Given the description of an element on the screen output the (x, y) to click on. 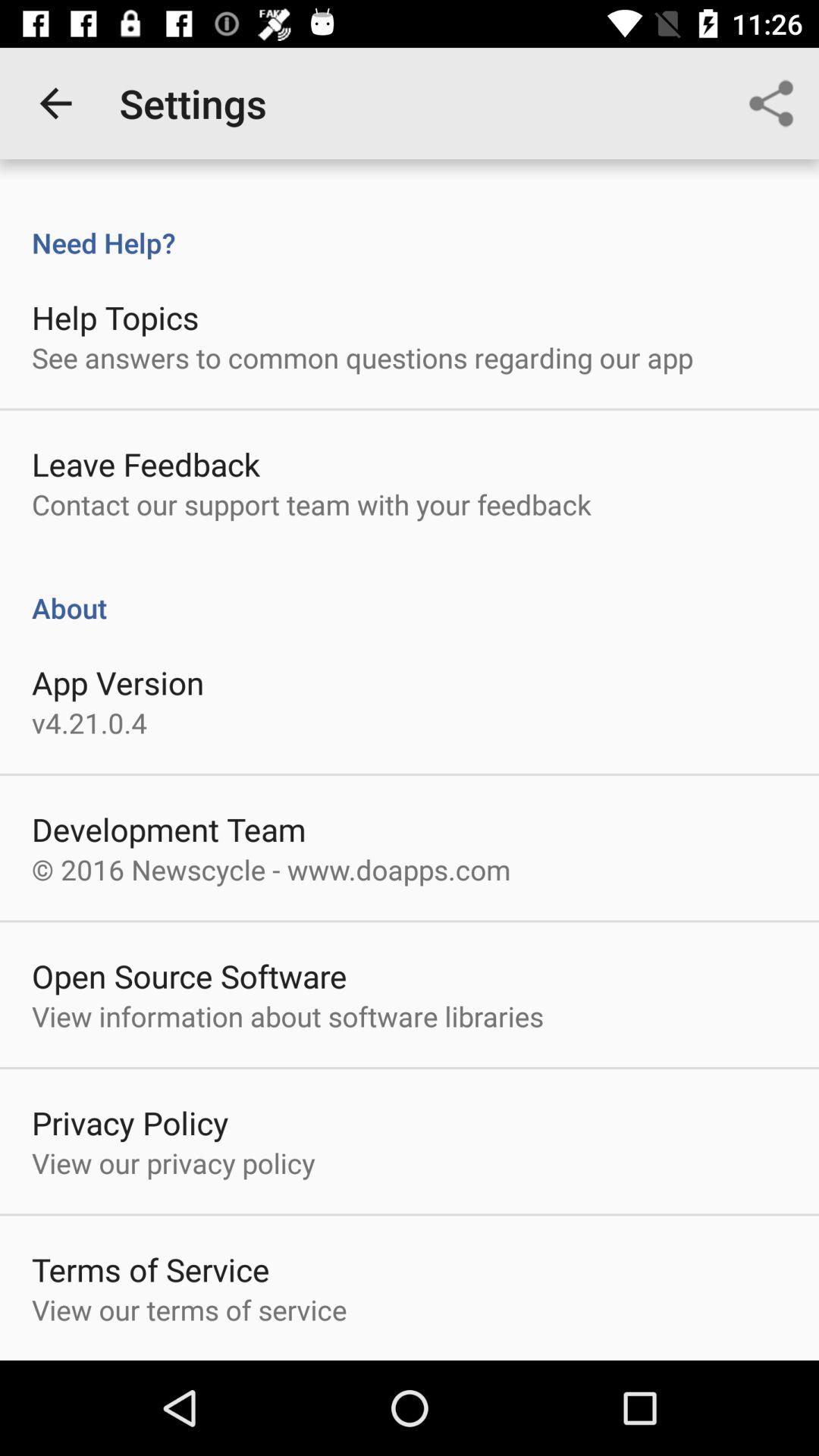
launch the icon above 2016 newscycle www (168, 828)
